Given the description of an element on the screen output the (x, y) to click on. 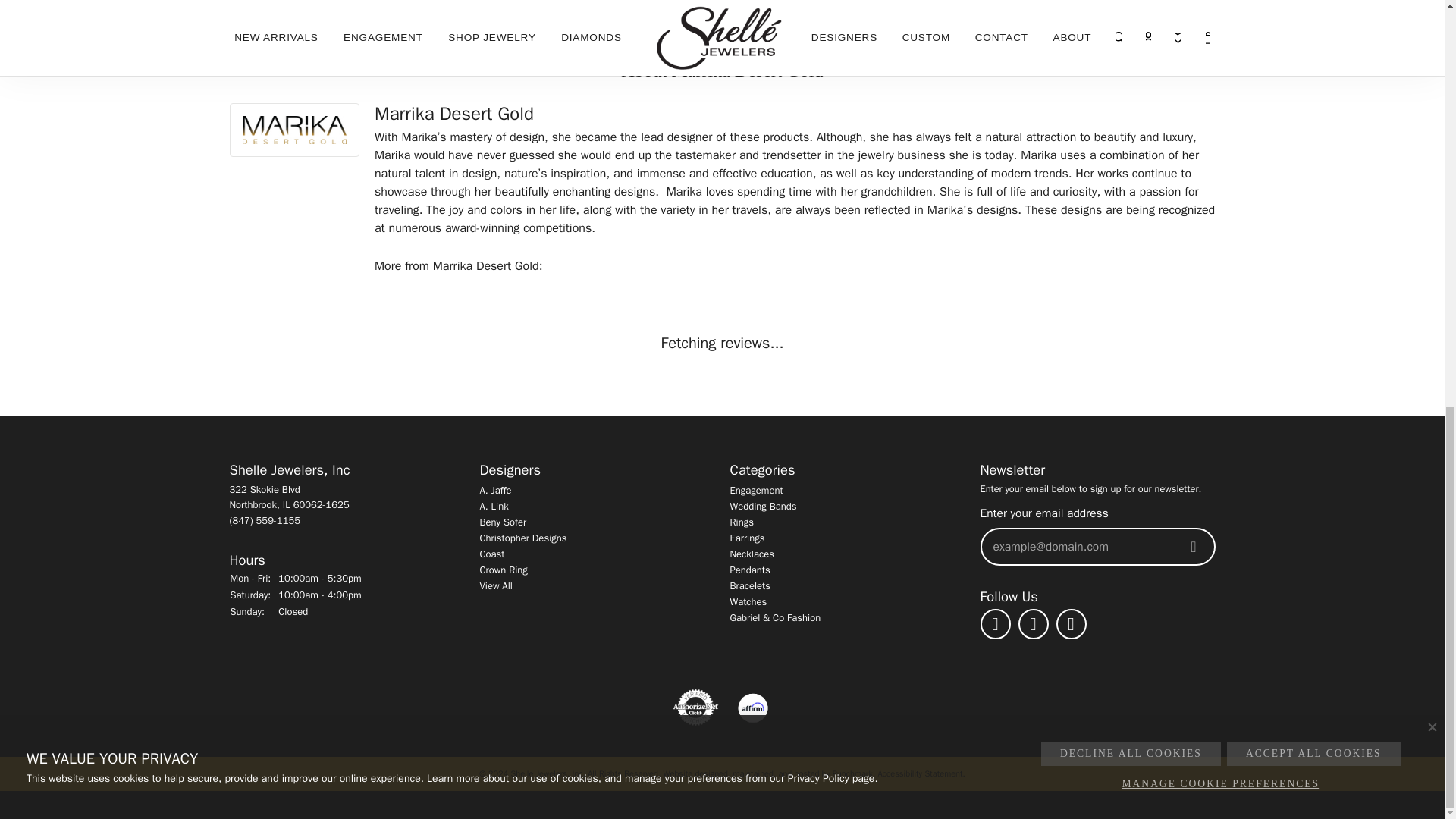
Enter your email address to subscribe (1082, 546)
Follow us on linkedin (1070, 624)
Follow us on instagram (1032, 624)
Follow us on facebook (994, 624)
